Given the description of an element on the screen output the (x, y) to click on. 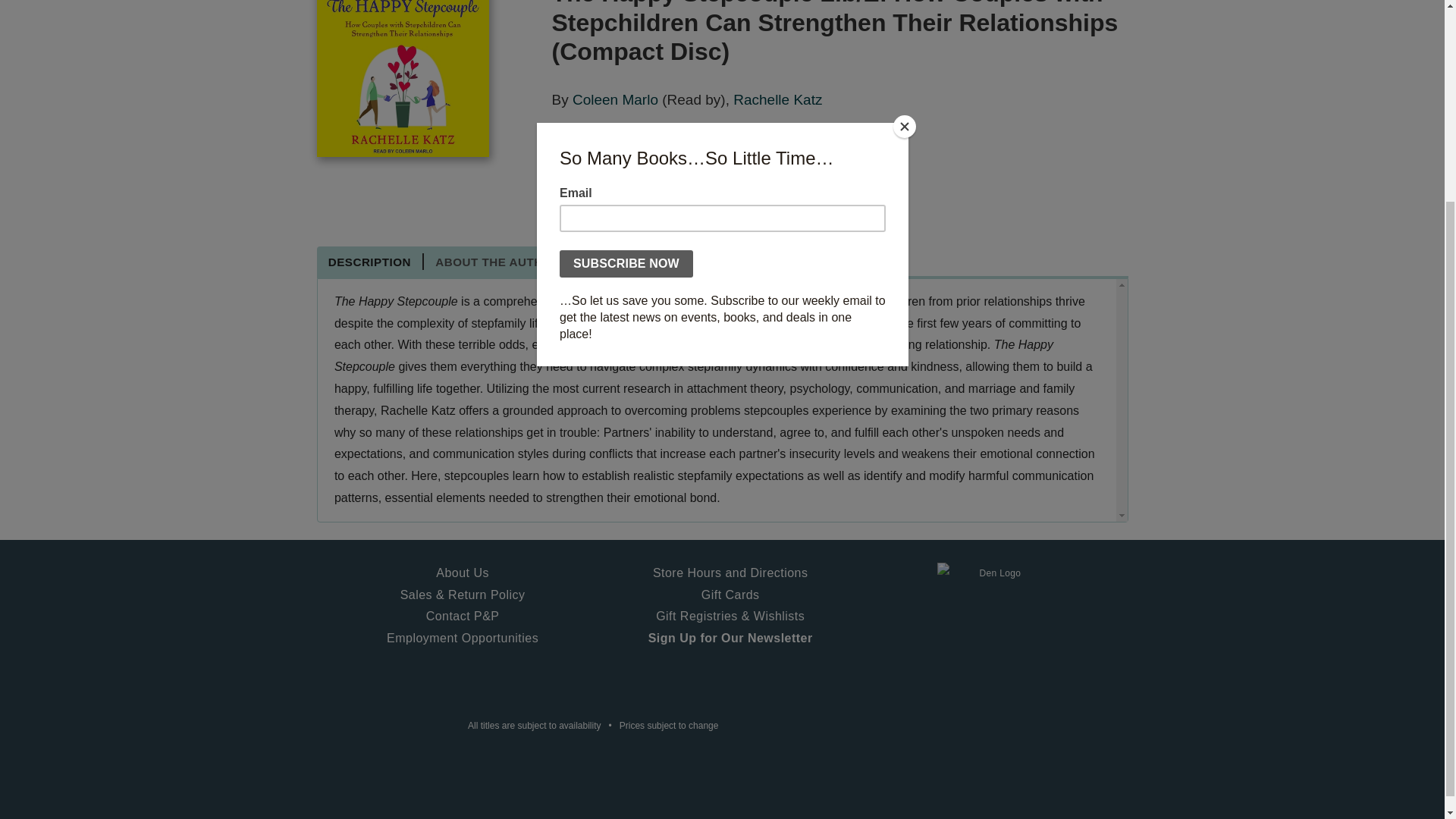
Add to Wish List (729, 199)
Add to Cart (605, 199)
